Given the description of an element on the screen output the (x, y) to click on. 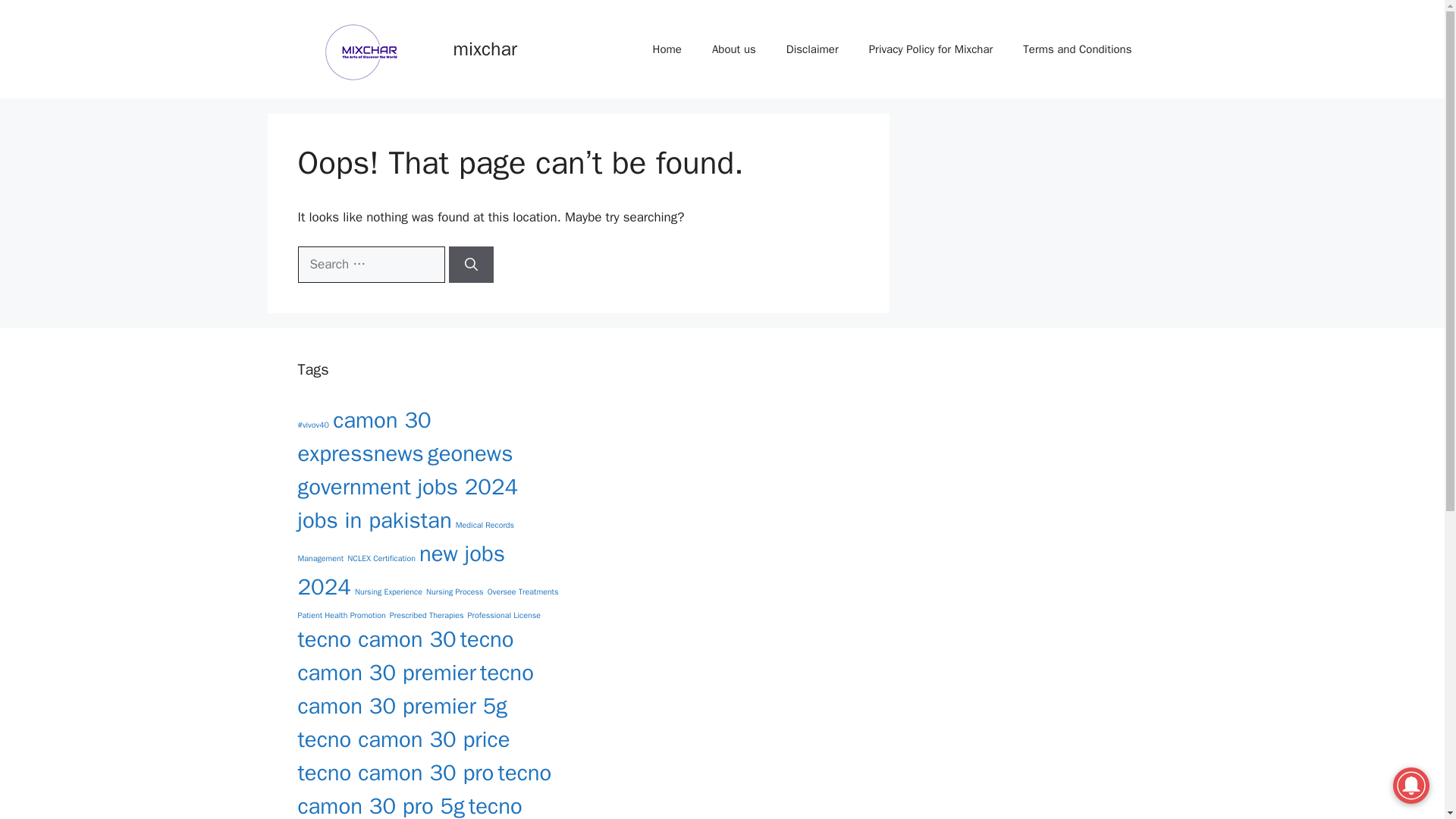
geonews (470, 453)
Professional License (503, 614)
tecno camon 30 pro review (409, 805)
new jobs 2024 (401, 570)
Patient Health Promotion (341, 614)
mixchar (484, 48)
Home (667, 49)
Prescribed Therapies (427, 614)
Nursing Process (454, 592)
NCLEX Certification (380, 558)
